Given the description of an element on the screen output the (x, y) to click on. 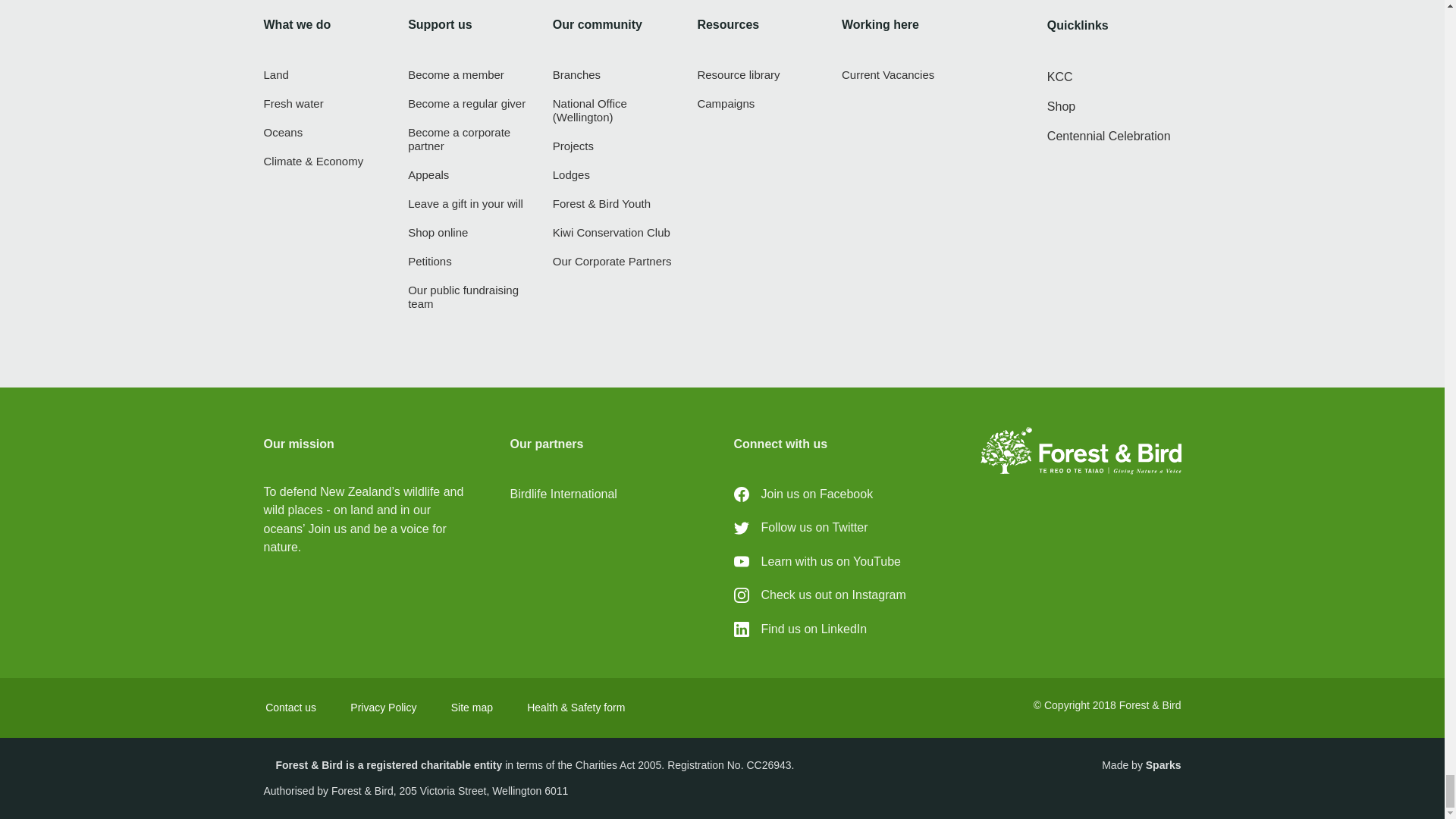
Home (1079, 450)
Our sponsors page (614, 261)
